Given the description of an element on the screen output the (x, y) to click on. 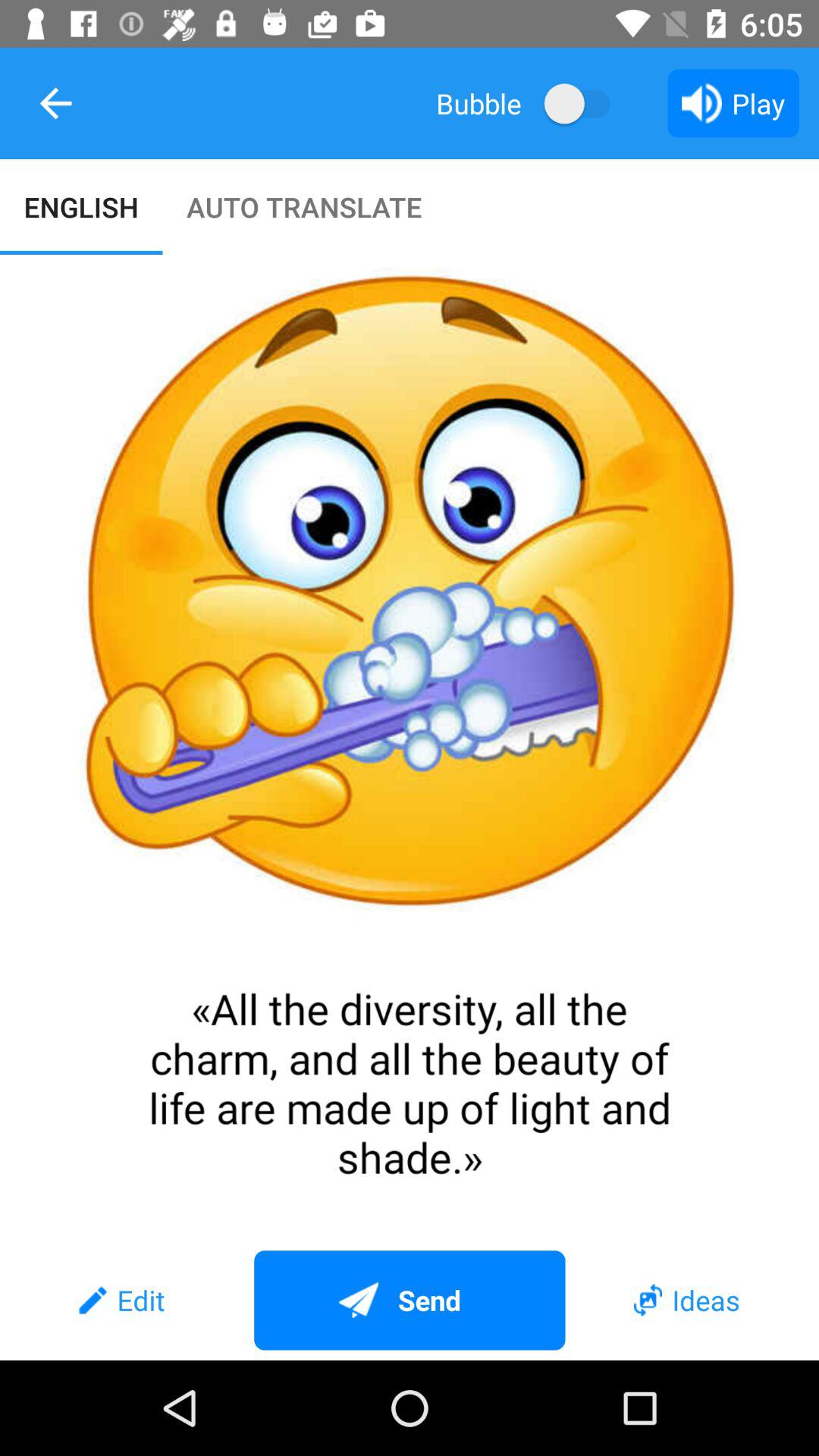
turn on/off (584, 103)
